Given the description of an element on the screen output the (x, y) to click on. 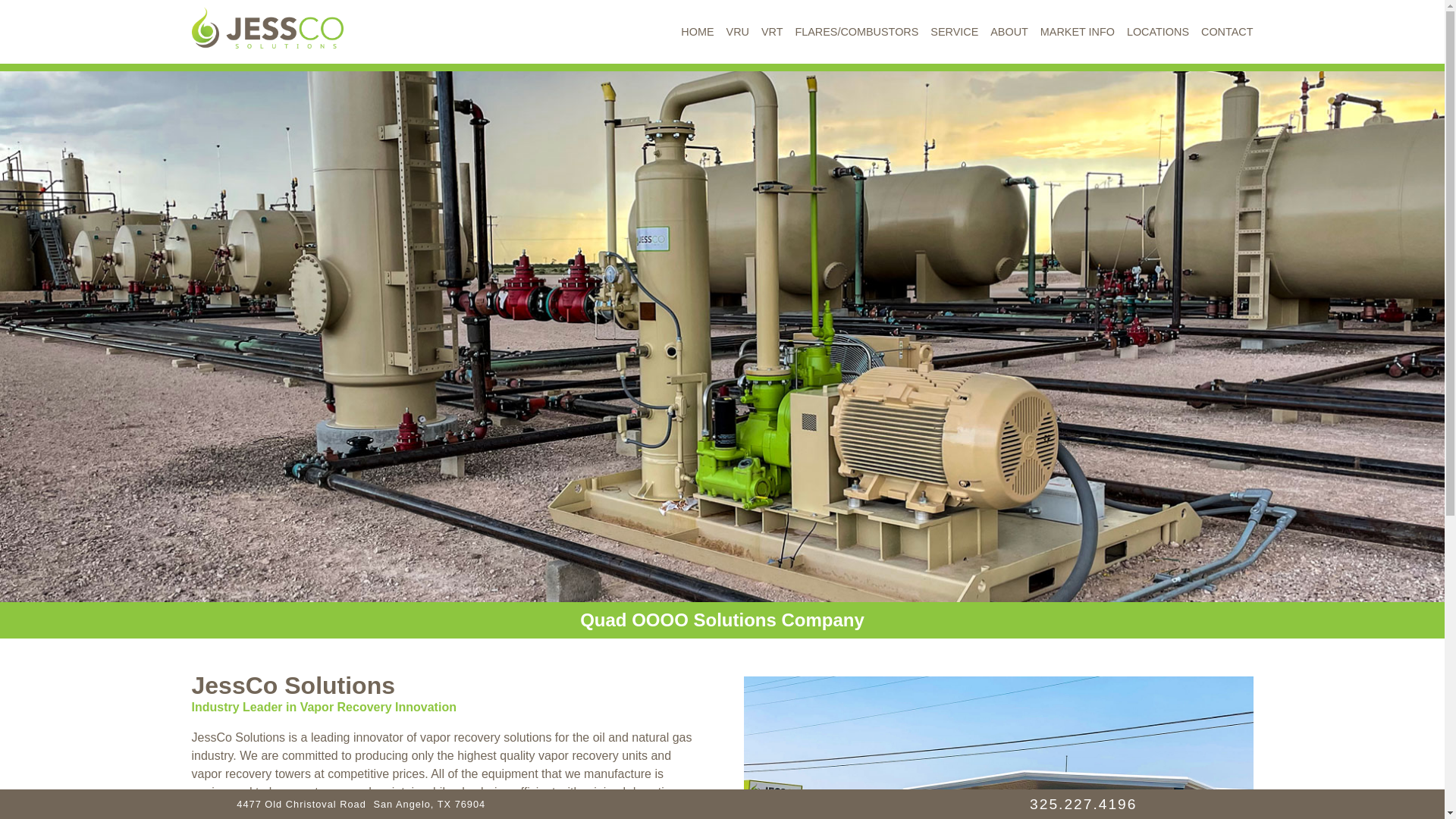
ABOUT (1008, 31)
SERVICE (954, 31)
VRU (737, 31)
LOCATIONS (1157, 31)
CONTACT (1226, 31)
VRT (772, 31)
MARKET INFO (1078, 31)
HOME (697, 31)
